Given the description of an element on the screen output the (x, y) to click on. 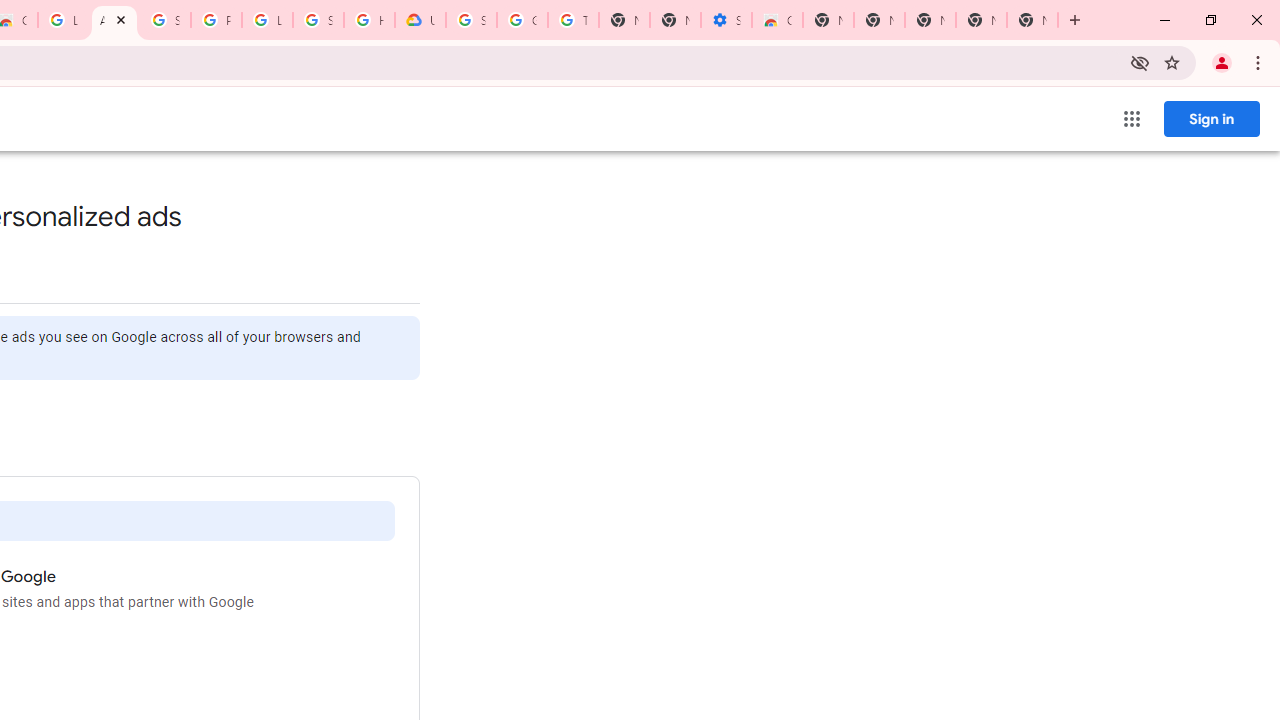
New Tab (827, 20)
Google Account Help (521, 20)
New Tab (1075, 20)
Turn cookies on or off - Computer - Google Account Help (573, 20)
You (1221, 62)
Minimize (1165, 20)
New Tab (1032, 20)
Settings - Accessibility (726, 20)
